Given the description of an element on the screen output the (x, y) to click on. 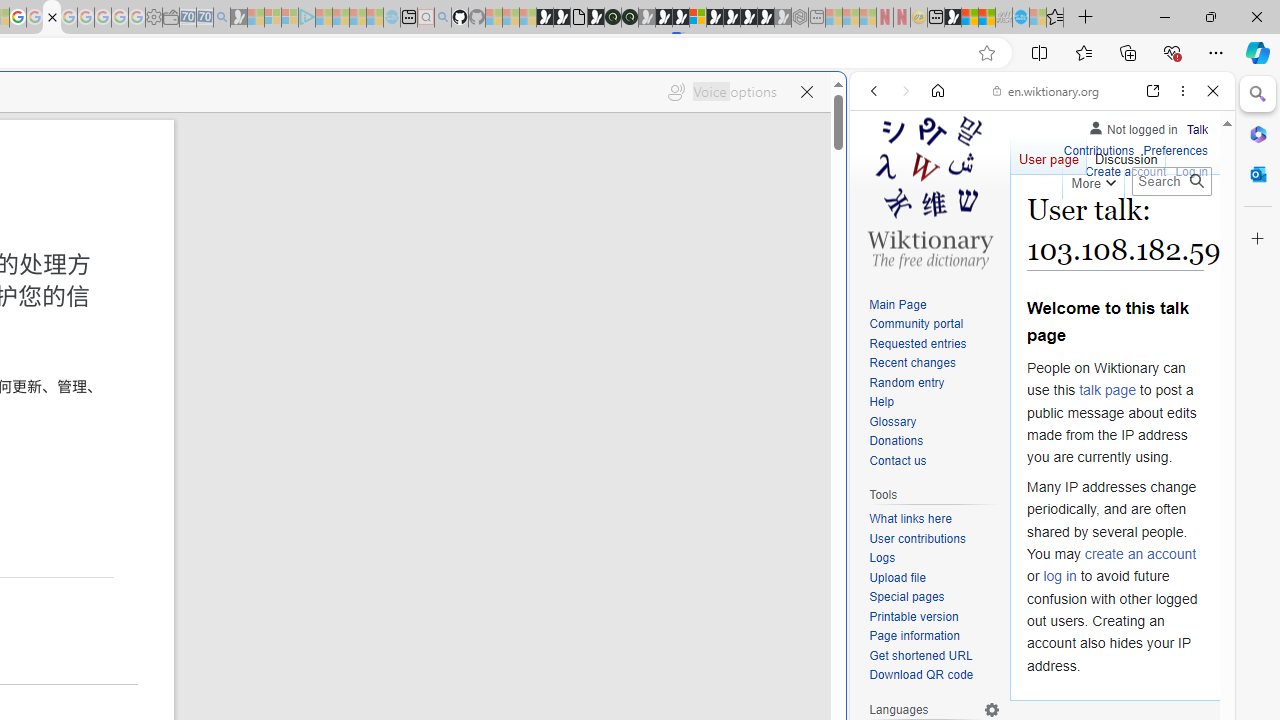
Printable version (913, 616)
More (1092, 179)
Printable version (934, 616)
World - MSN (969, 17)
WEB   (882, 228)
Talk (1197, 126)
User contributions (917, 538)
Search Filter, IMAGES (939, 228)
